Given the description of an element on the screen output the (x, y) to click on. 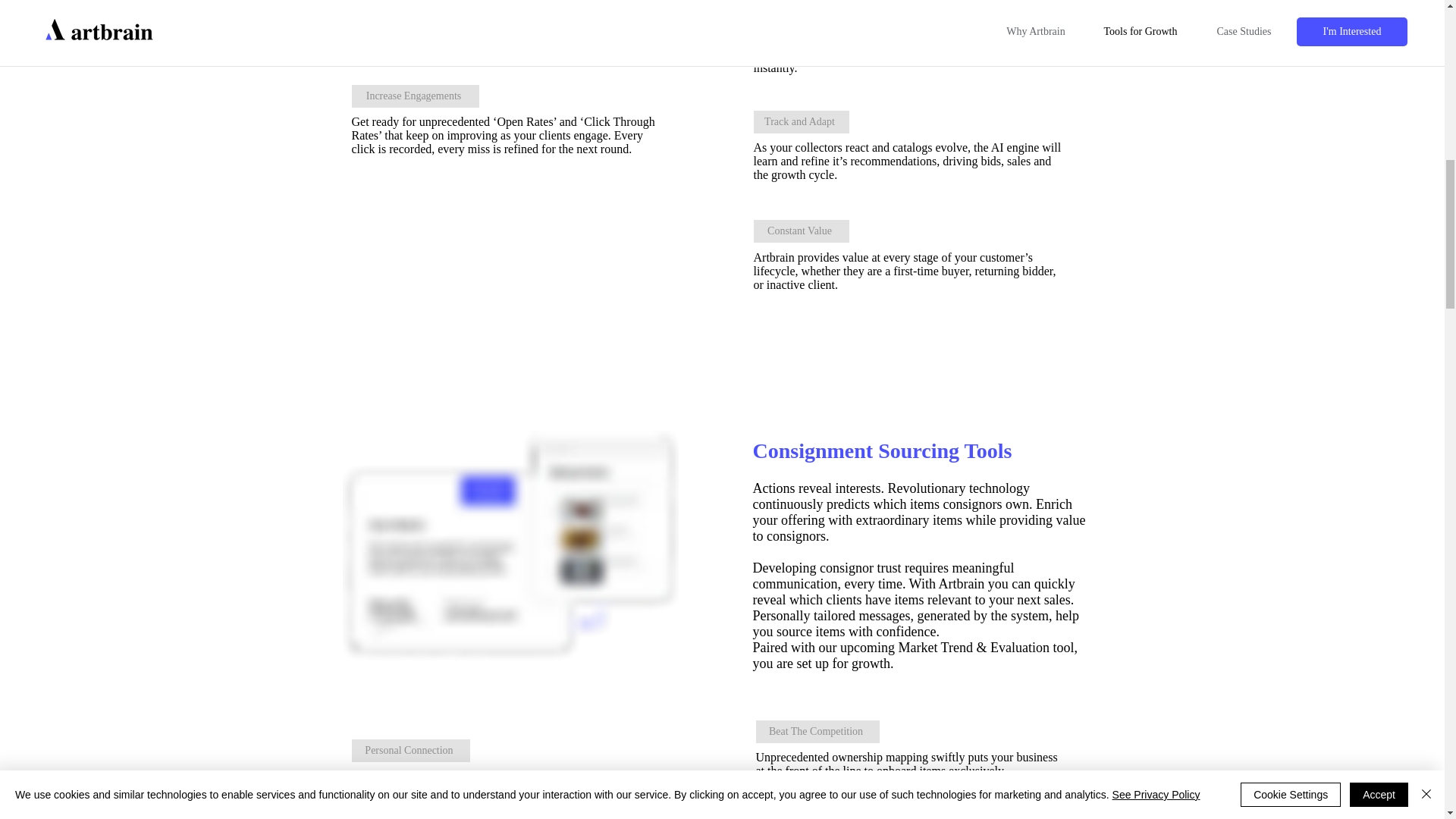
Constant Value (801, 231)
Track and Adapt (801, 121)
Personal Connection (411, 750)
Increase Engagements (415, 96)
Beat The Competition (817, 731)
Reactivate Dormant Bidders (830, 15)
